Given the description of an element on the screen output the (x, y) to click on. 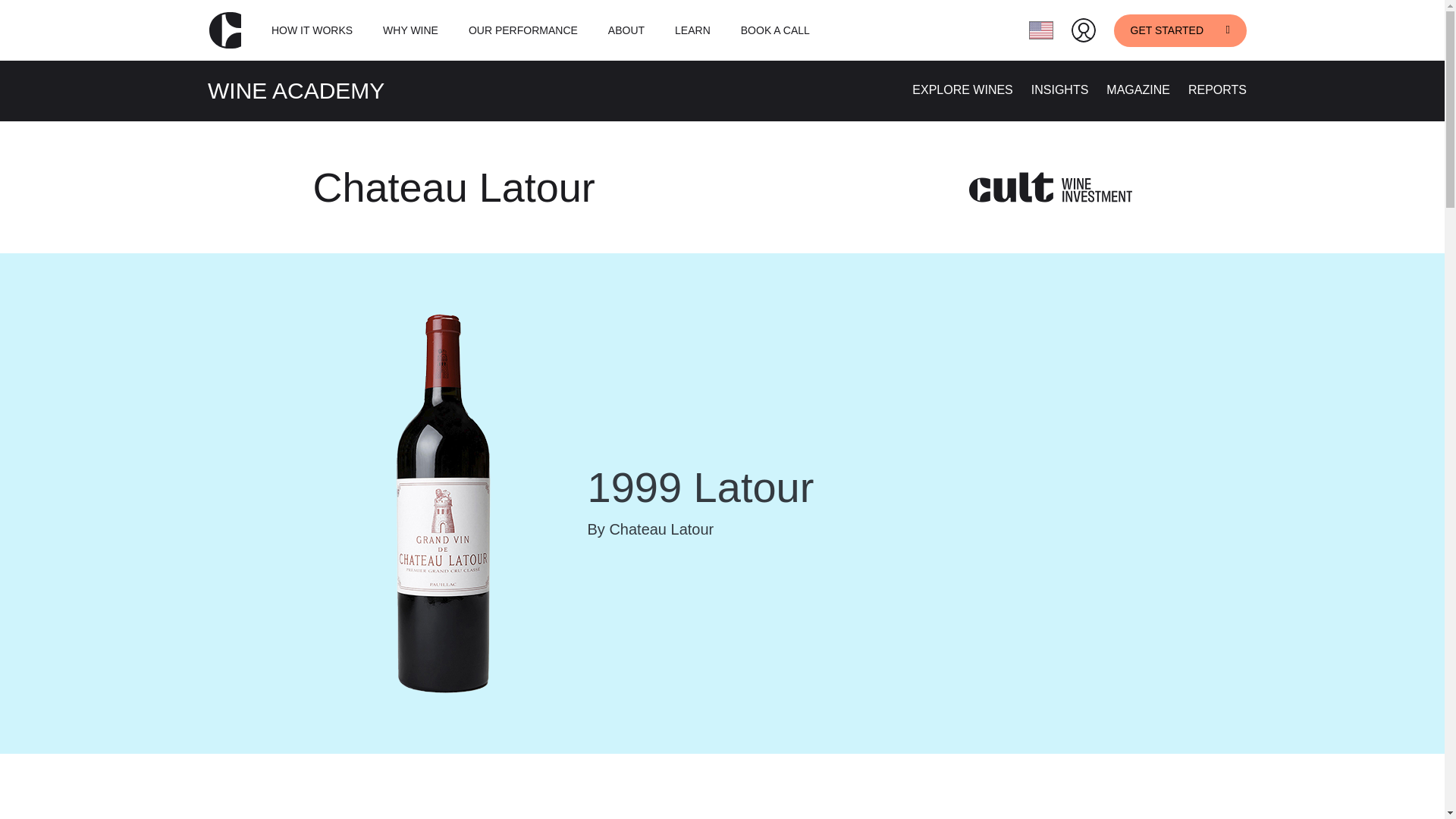
Chateau Latour (454, 186)
GET STARTED (1179, 29)
HOW IT WORKS (311, 30)
BOOK A CALL (775, 30)
WHY WINE (410, 30)
REPORTS (1217, 90)
MAGAZINE (1138, 90)
OUR PERFORMANCE (523, 30)
INSIGHTS (1059, 90)
EXPLORE WINES (961, 90)
